Given the description of an element on the screen output the (x, y) to click on. 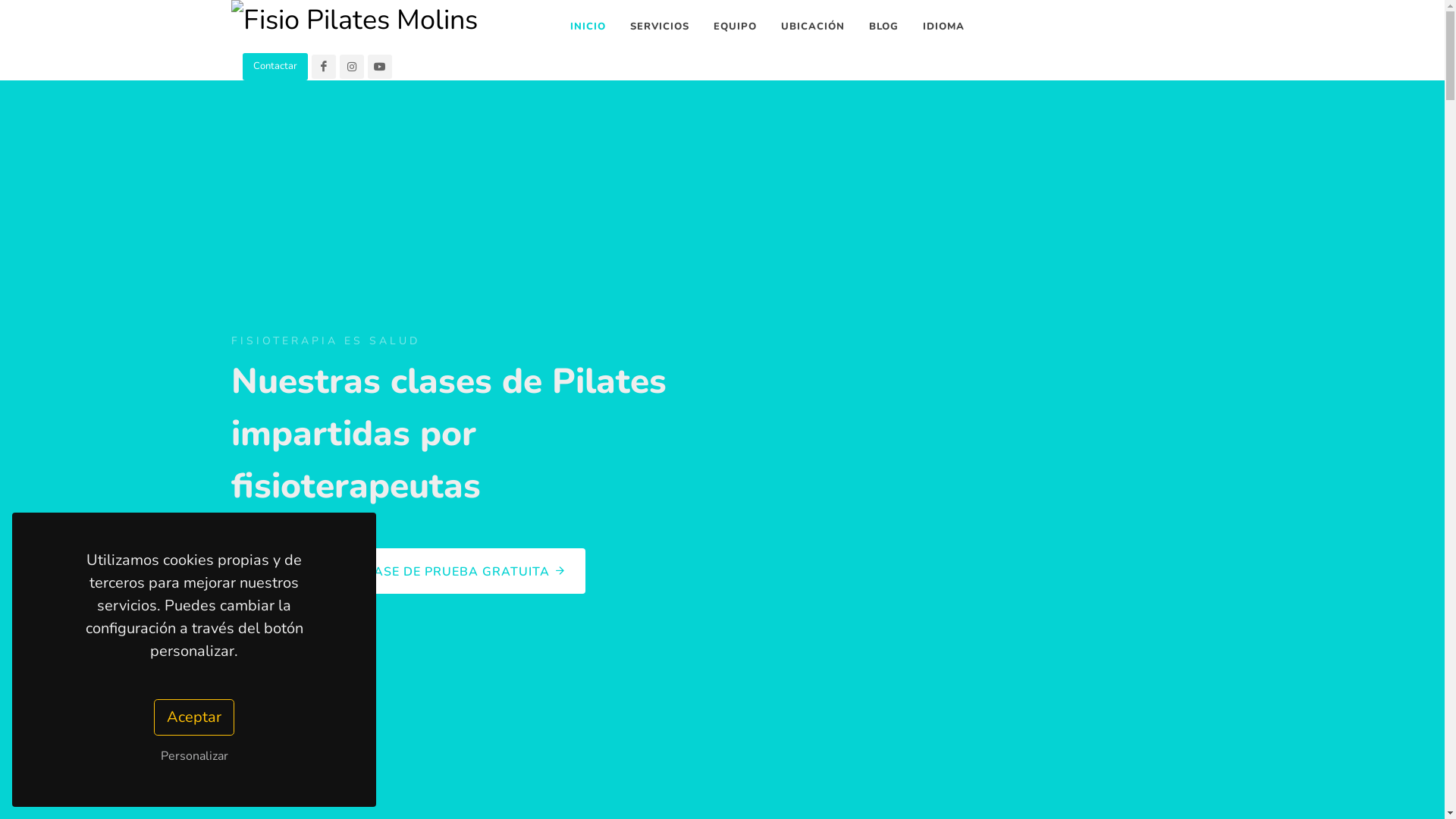
SERVICIOS Element type: text (659, 26)
EQUIPO Element type: text (735, 26)
Personalizar Element type: text (193, 755)
BLOG Element type: text (882, 26)
Contactar Element type: text (274, 66)
INICIO Element type: text (587, 26)
RESERVA YA TU CLASE DE PRUEBA GRATUITA Element type: text (407, 570)
IDIOMA Element type: text (943, 26)
Aceptar Element type: text (193, 717)
